Given the description of an element on the screen output the (x, y) to click on. 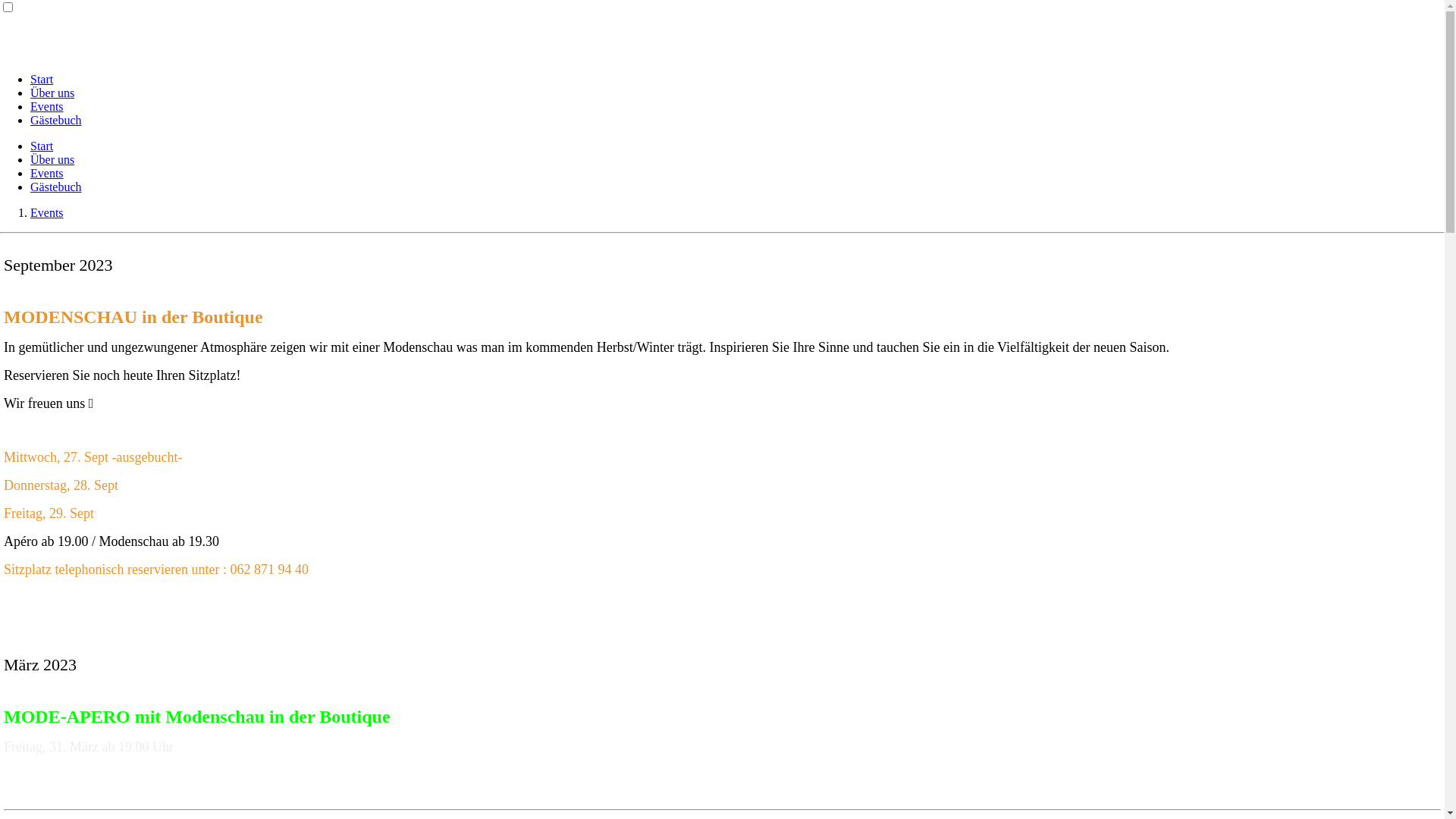
Events Element type: text (46, 106)
Start Element type: text (41, 78)
Start Element type: text (41, 145)
Events Element type: text (46, 172)
Events Element type: text (46, 212)
